Given the description of an element on the screen output the (x, y) to click on. 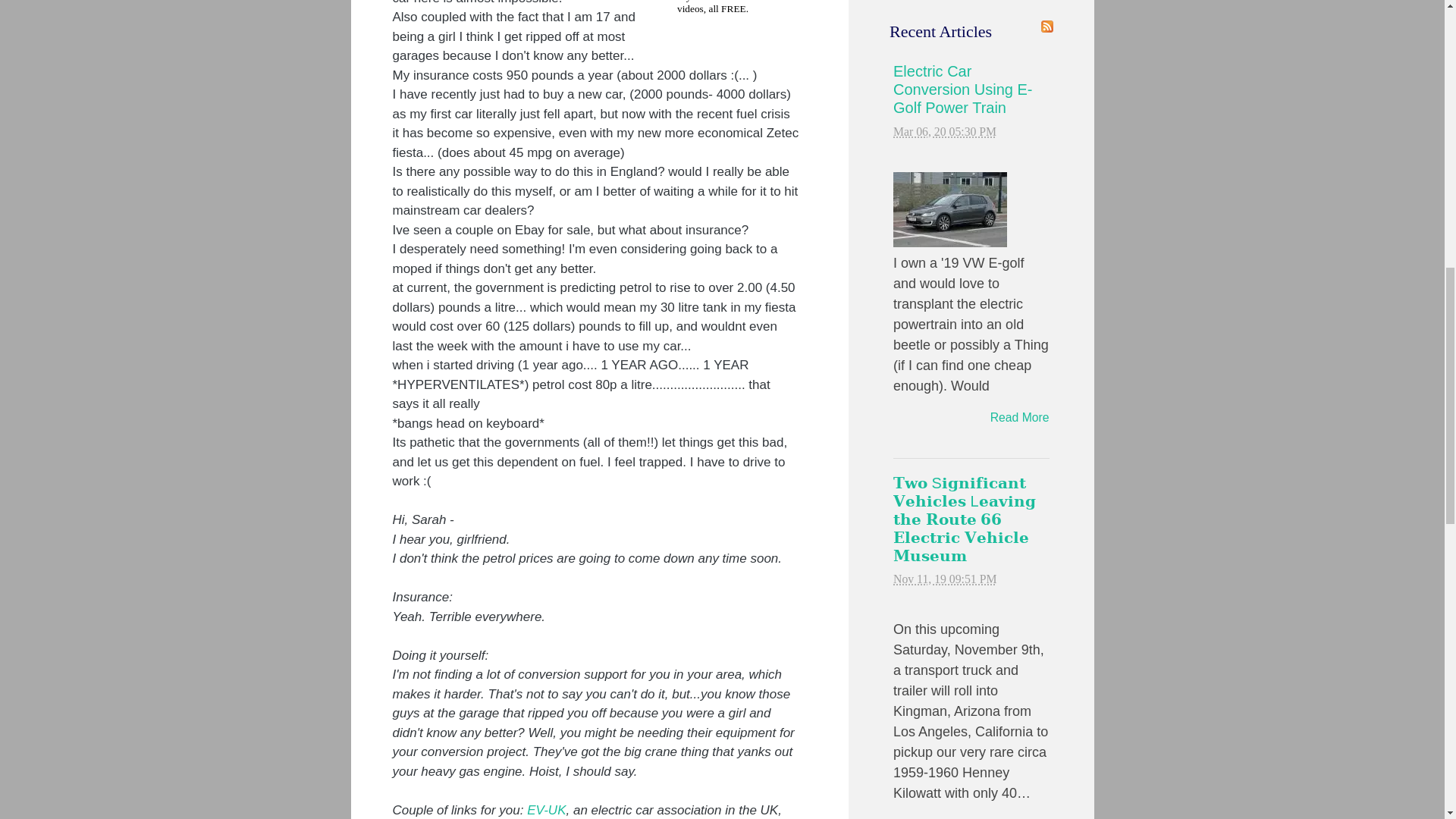
2019-11-11T21:51:00-0500 (944, 578)
2020-03-06T17:30:17-0500 (944, 131)
EV-UK (546, 810)
